Given the description of an element on the screen output the (x, y) to click on. 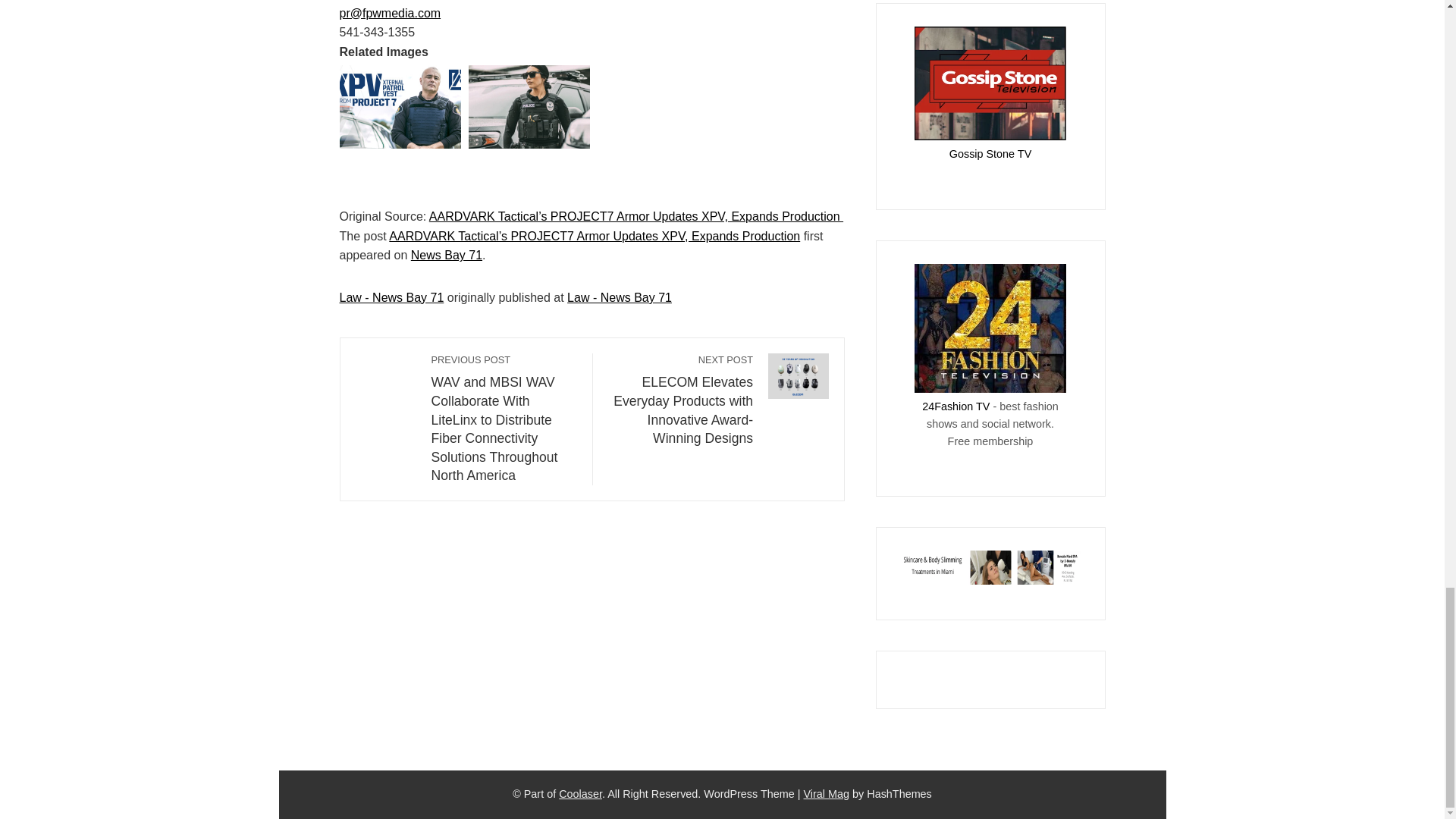
Download Viral News (826, 793)
Law - News Bay 71 (391, 297)
News Bay 71 (445, 254)
Law - News Bay 71 (619, 297)
